Given the description of an element on the screen output the (x, y) to click on. 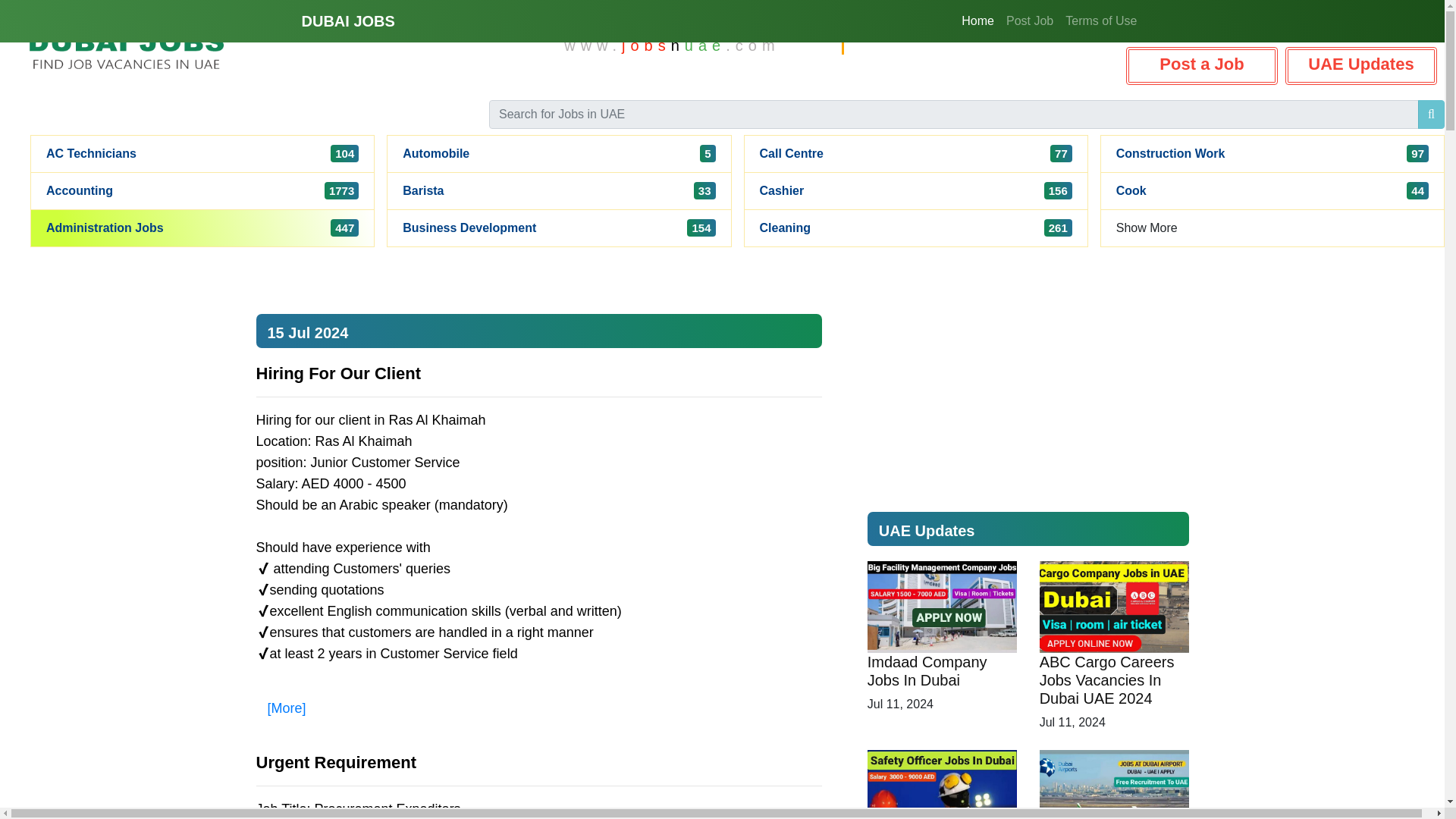
DUBAI JOBS (782, 190)
Terms of Use (792, 153)
Home (347, 20)
Post a Job (1100, 20)
UAE Updates (977, 20)
Post Job (79, 190)
Advertisement (1201, 65)
